Given the description of an element on the screen output the (x, y) to click on. 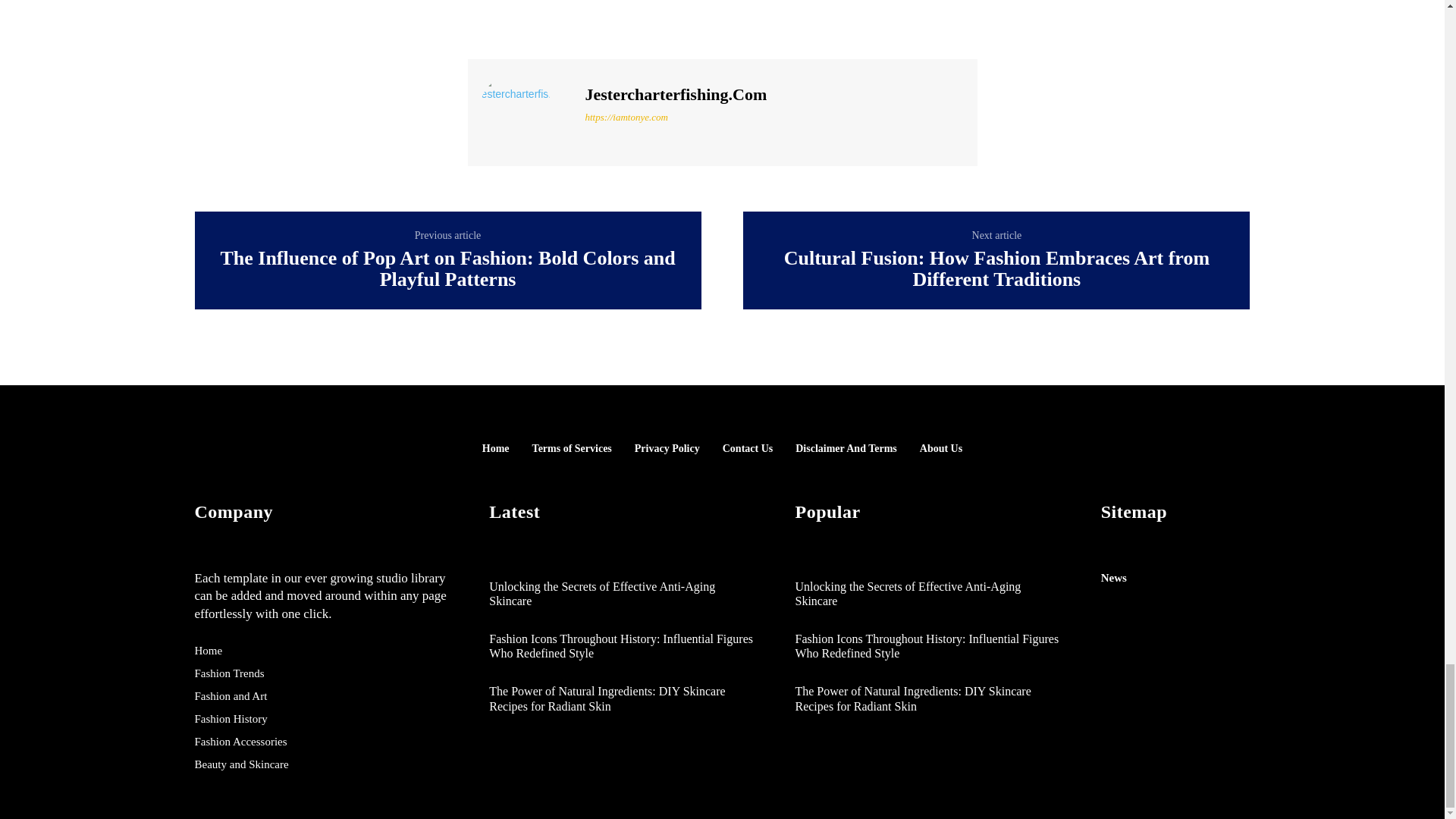
jestercharterfishing.com (524, 110)
